Given the description of an element on the screen output the (x, y) to click on. 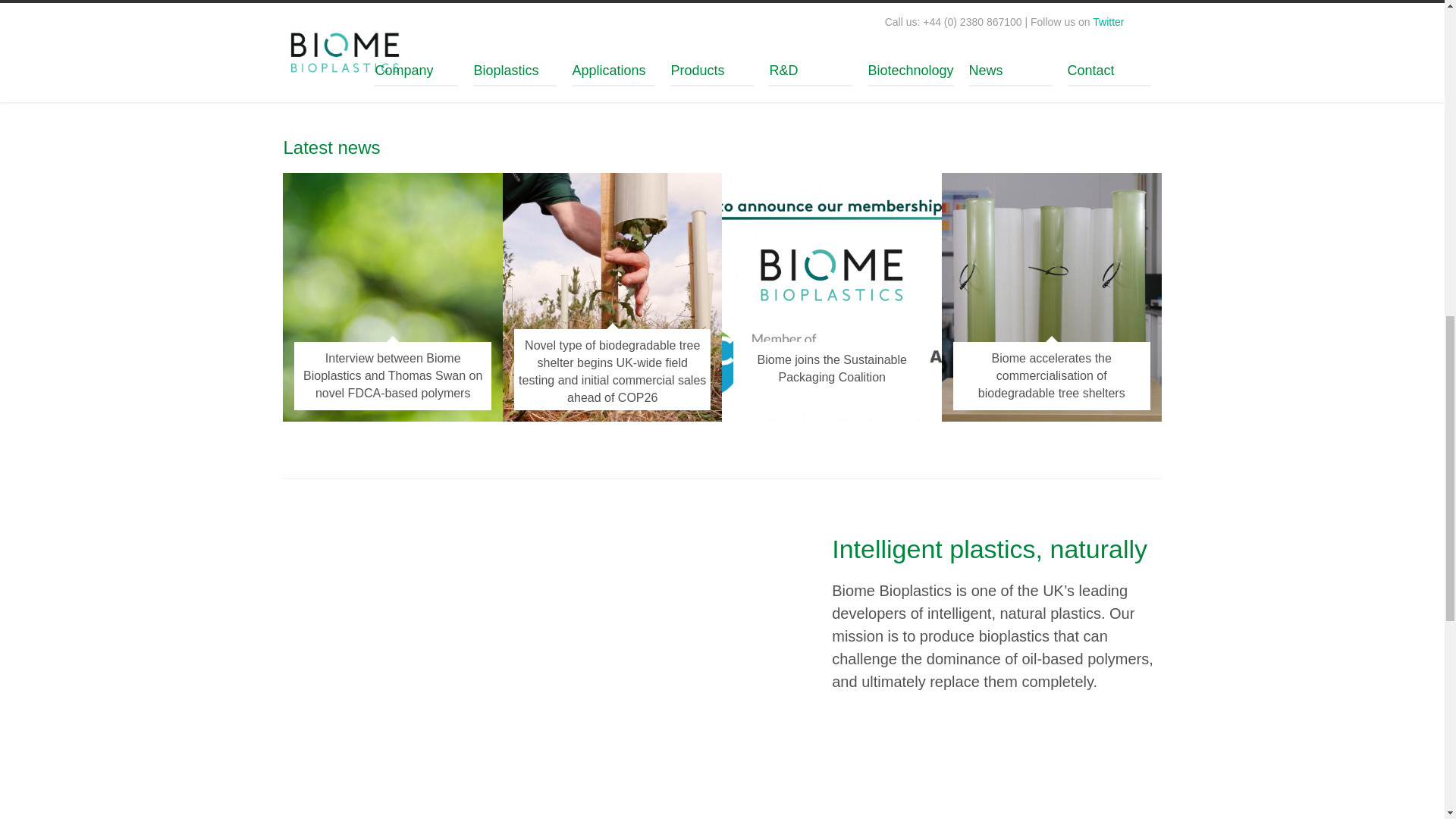
Biome joins the Sustainable Packaging Coalition (831, 368)
Read more (607, 6)
Read more (378, 49)
Read more (836, 6)
Read more (1064, 6)
Biome joins the Sustainable Packaging Coalition (831, 368)
